Given the description of an element on the screen output the (x, y) to click on. 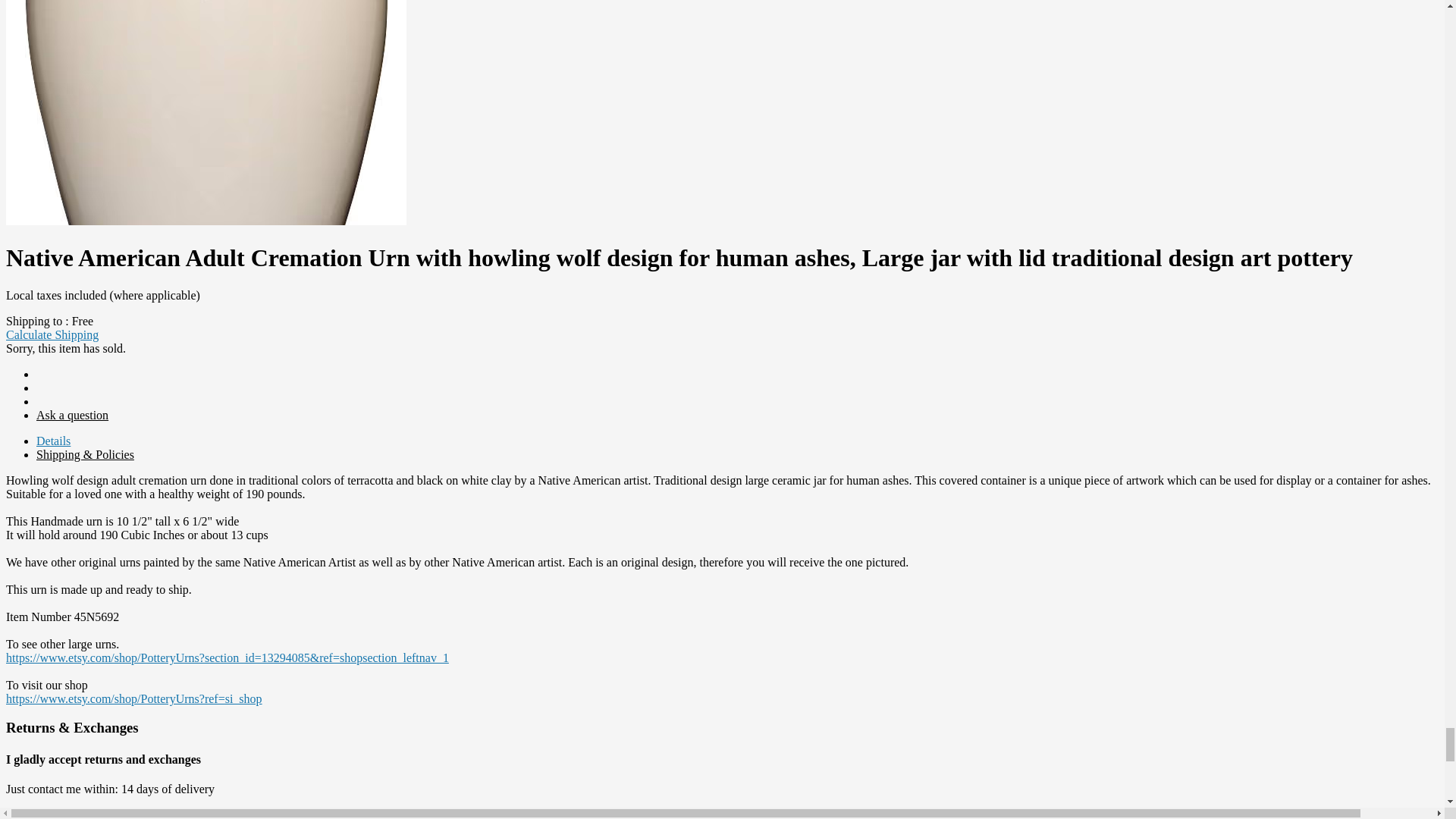
Calculate Shipping (52, 334)
Details (52, 440)
Ask a question (71, 414)
